Given the description of an element on the screen output the (x, y) to click on. 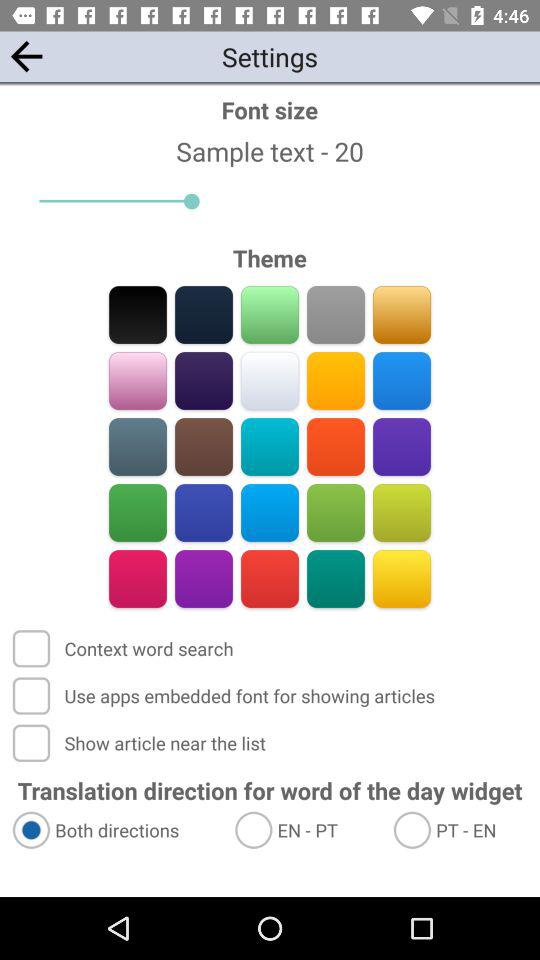
select theme color (335, 578)
